Given the description of an element on the screen output the (x, y) to click on. 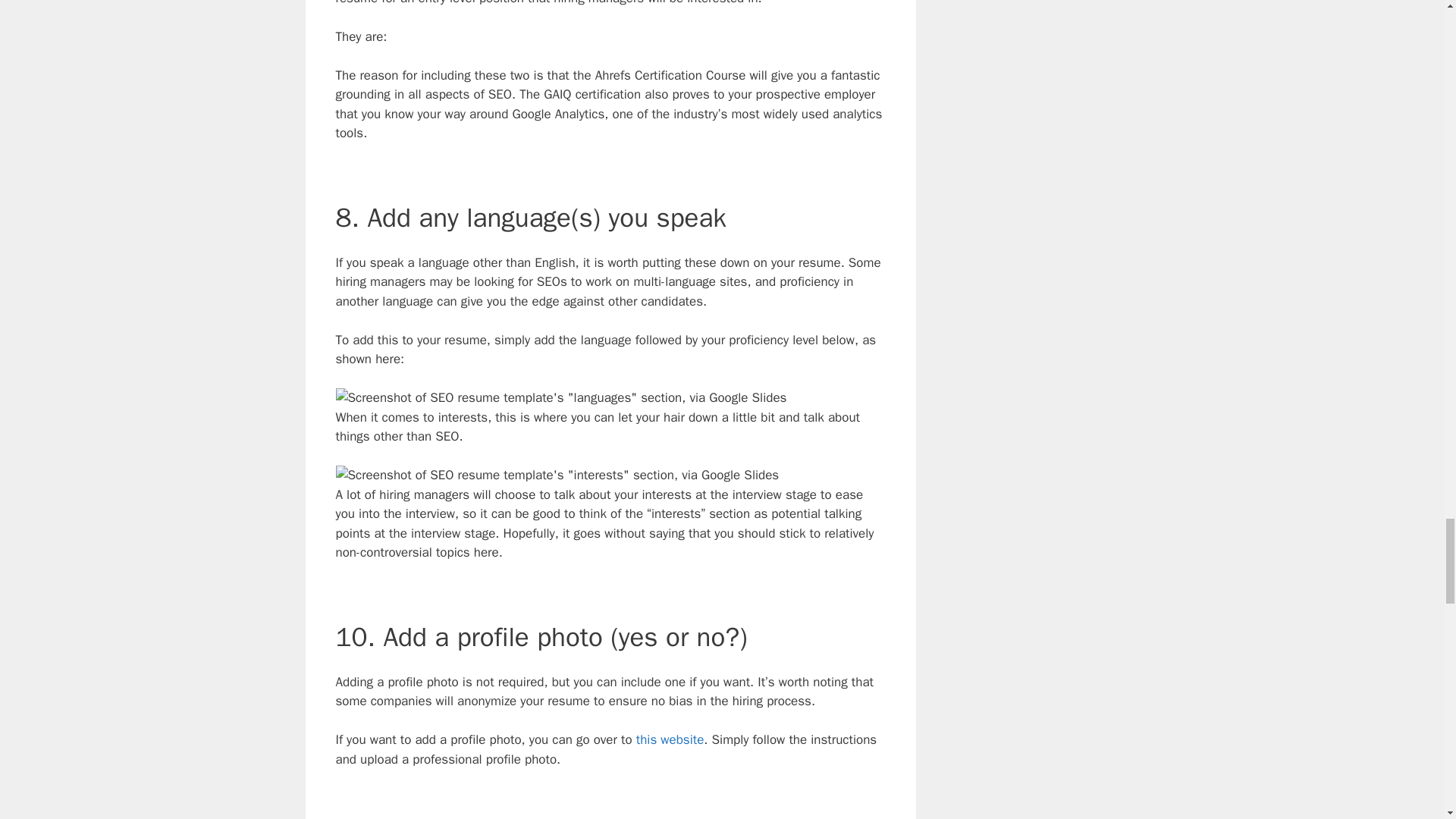
this website (670, 739)
